Given the description of an element on the screen output the (x, y) to click on. 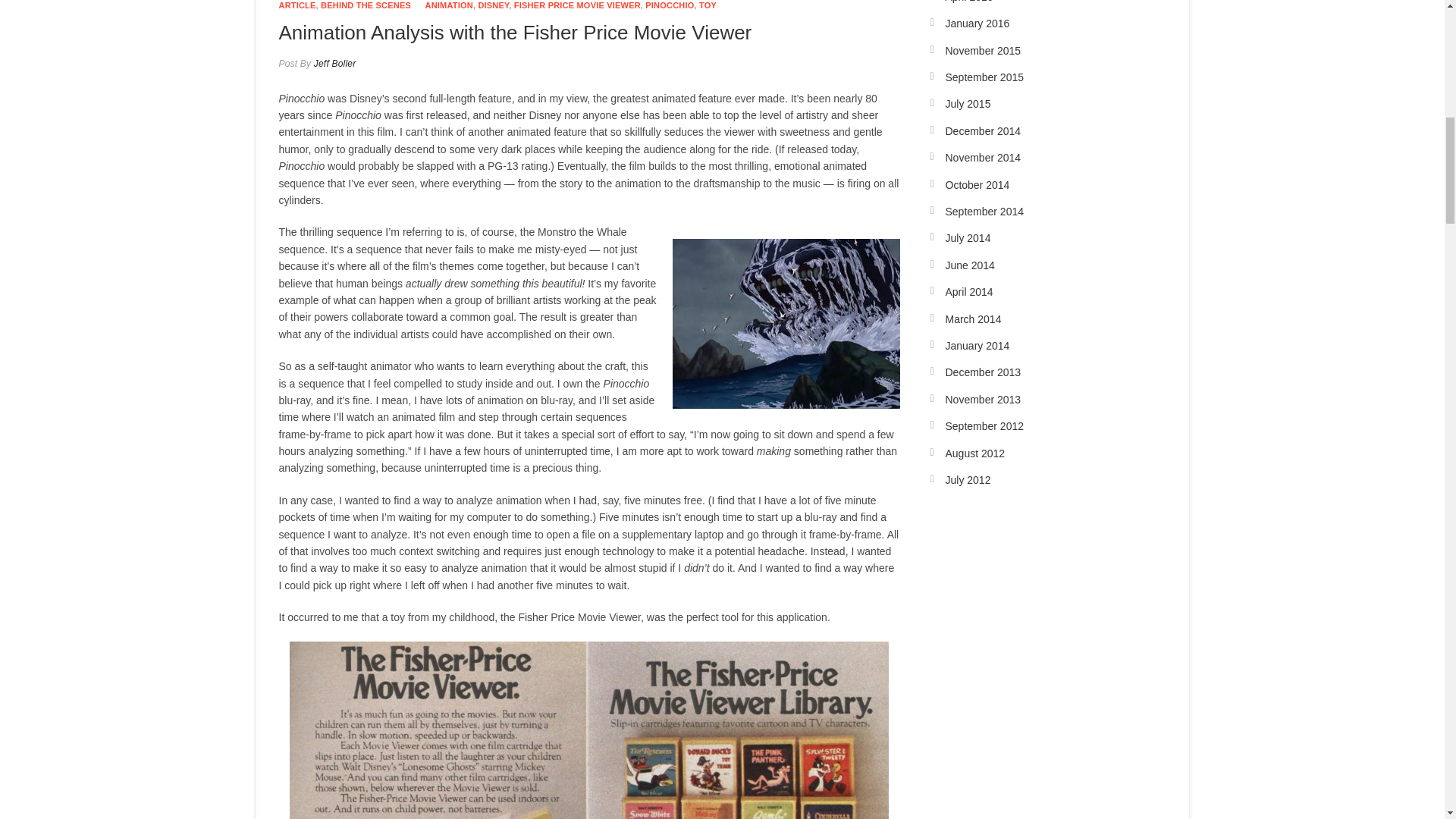
FISHER PRICE MOVIE VIEWER (576, 4)
Jeff Boller (333, 63)
TOY (707, 4)
ARTICLE (297, 4)
PINOCCHIO (669, 4)
Animation Analysis with the Fisher Price Movie Viewer (515, 32)
DISNEY (492, 4)
BEHIND THE SCENES (365, 4)
Animation Analysis with the Fisher Price Movie Viewer (515, 32)
Jeff Boller (333, 63)
ANIMATION (449, 4)
